Given the description of an element on the screen output the (x, y) to click on. 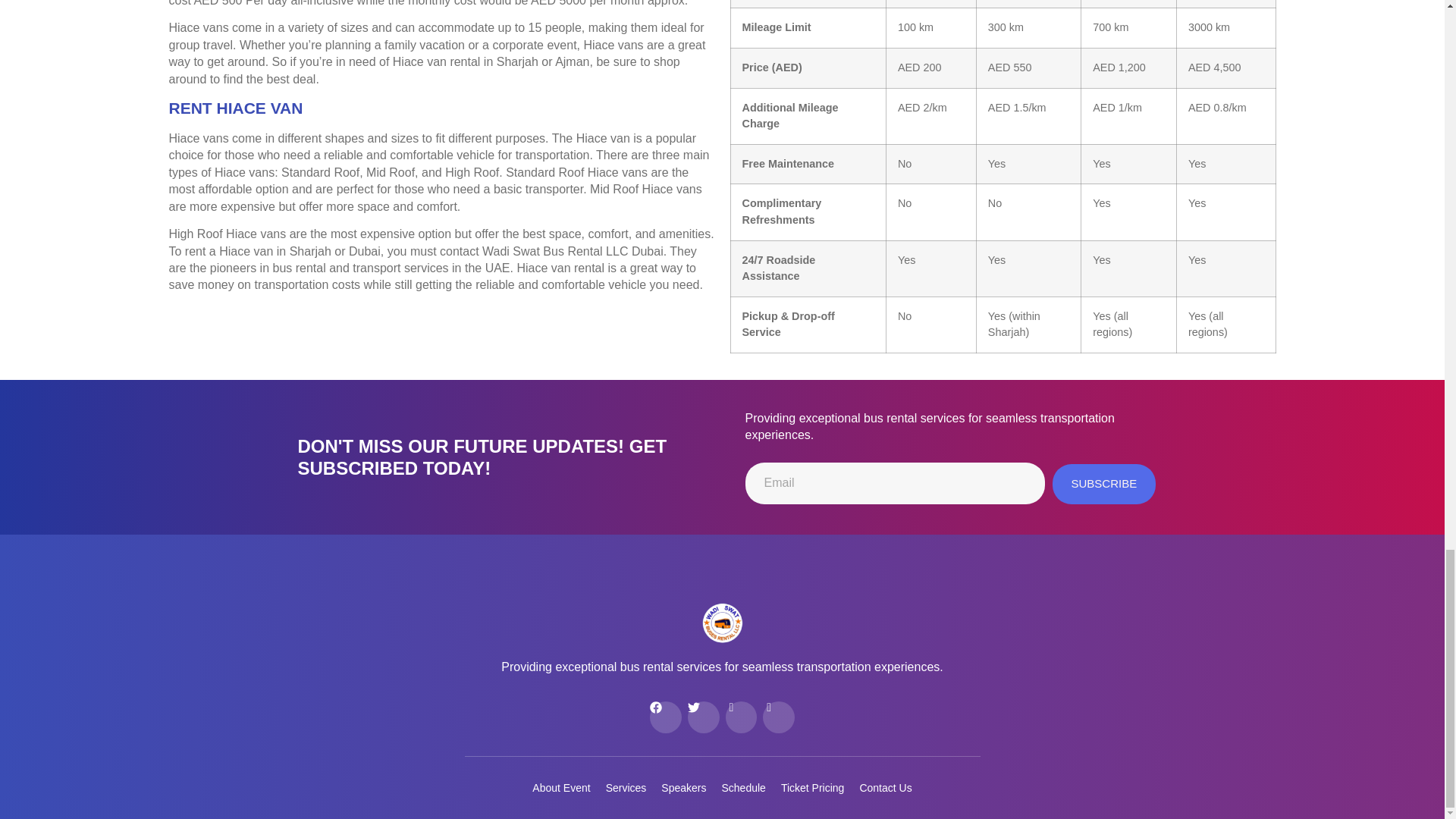
Speakers (683, 787)
About Event (560, 787)
Services (625, 787)
SUBSCRIBE (1104, 484)
Schedule (742, 787)
